Given the description of an element on the screen output the (x, y) to click on. 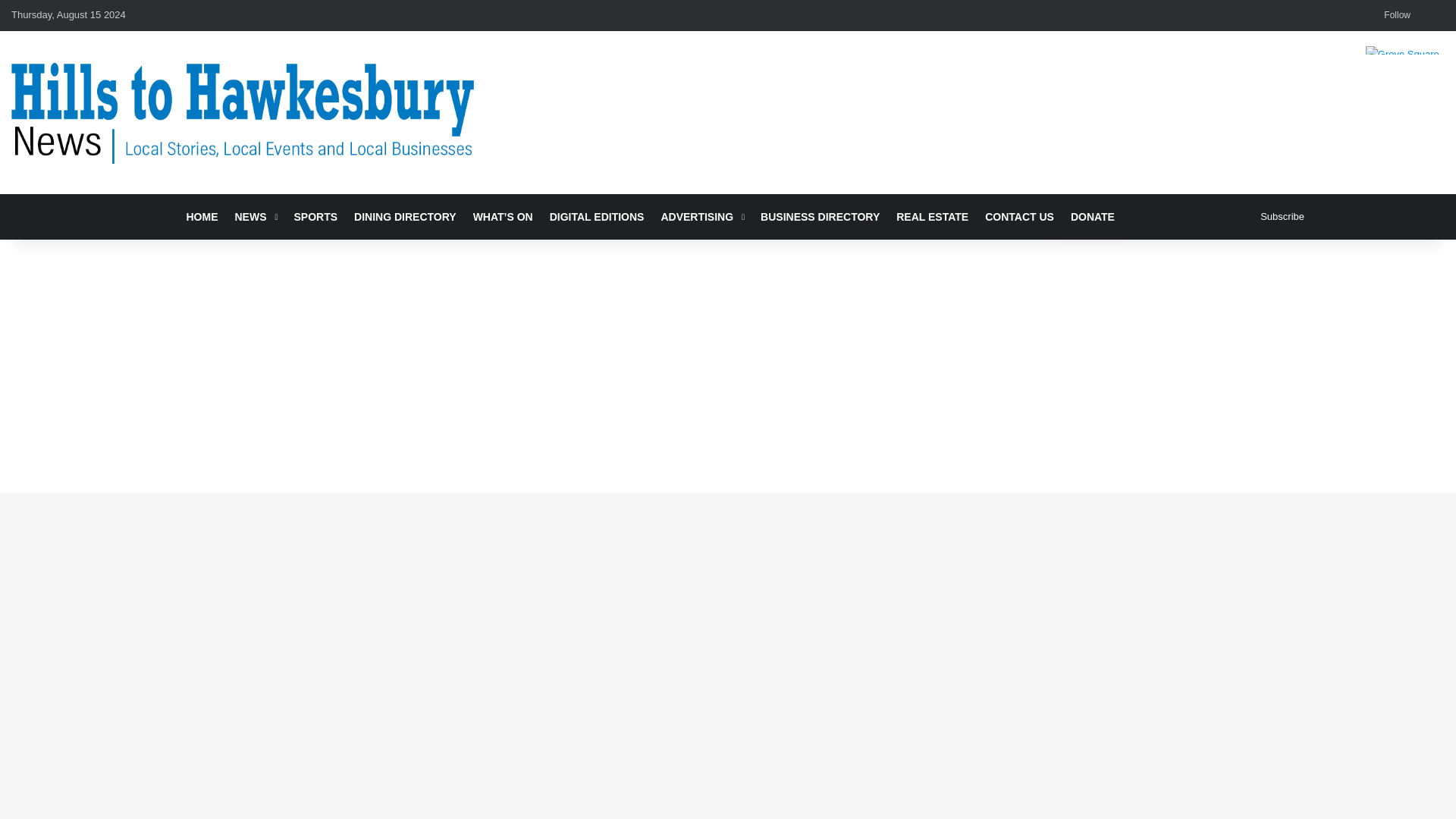
Follow (1394, 15)
REAL ESTATE (932, 216)
HOME (201, 216)
ADVERTISING (702, 216)
DIGITAL EDITIONS (596, 216)
Subscribe (1282, 216)
BUSINESS DIRECTORY (820, 216)
Hills to Hawkesbury News (242, 112)
DINING DIRECTORY (405, 216)
SPORTS (315, 216)
